Given the description of an element on the screen output the (x, y) to click on. 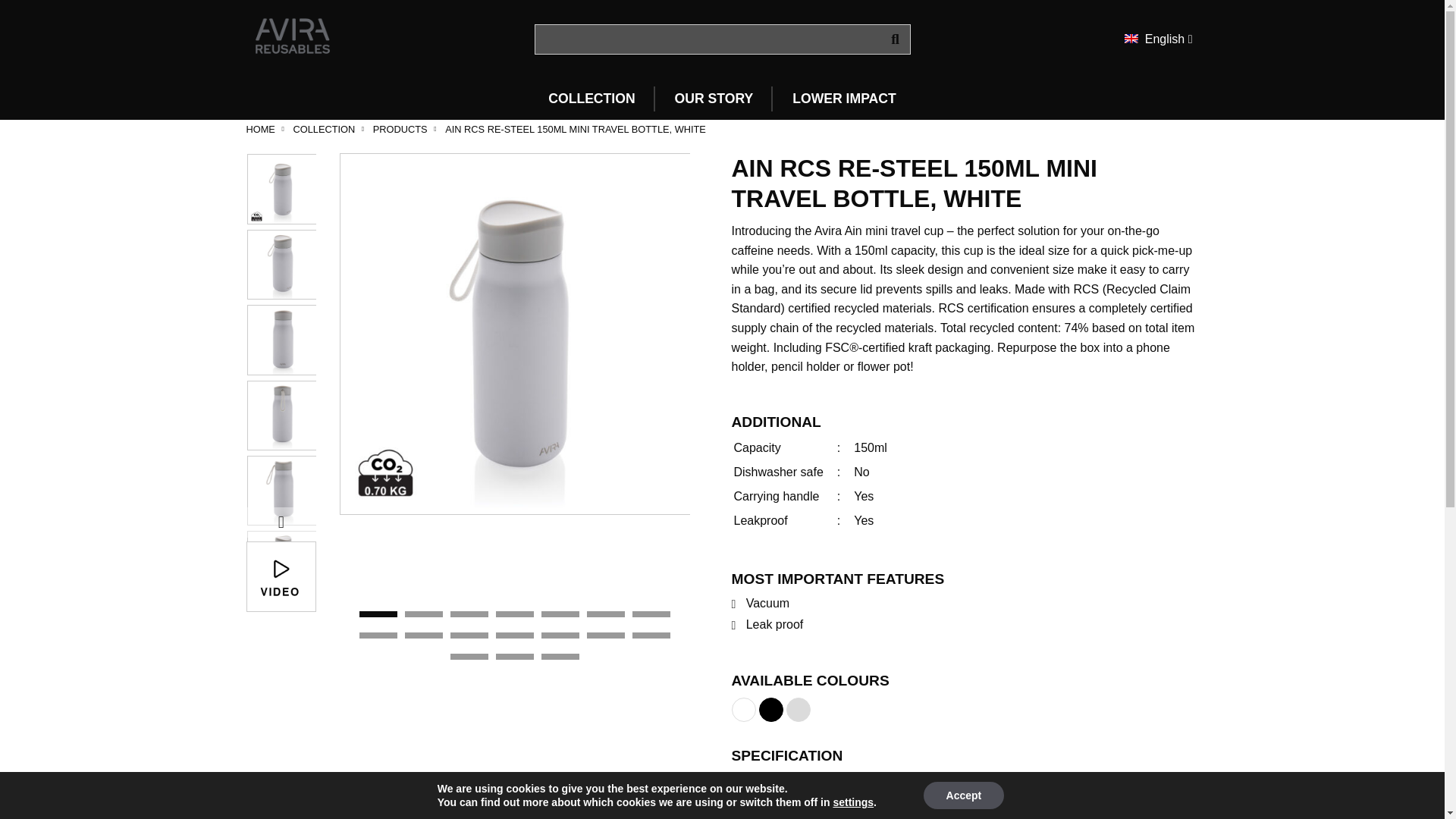
6 (605, 614)
14 (650, 636)
COLLECTION (323, 129)
15 (468, 657)
1 (378, 614)
13 (605, 636)
Next (280, 521)
8 (378, 636)
16 (515, 657)
10 (468, 636)
PRODUCTS (400, 129)
OUR STORY (713, 98)
11 (515, 636)
Search for: (722, 39)
HOME (260, 129)
